Given the description of an element on the screen output the (x, y) to click on. 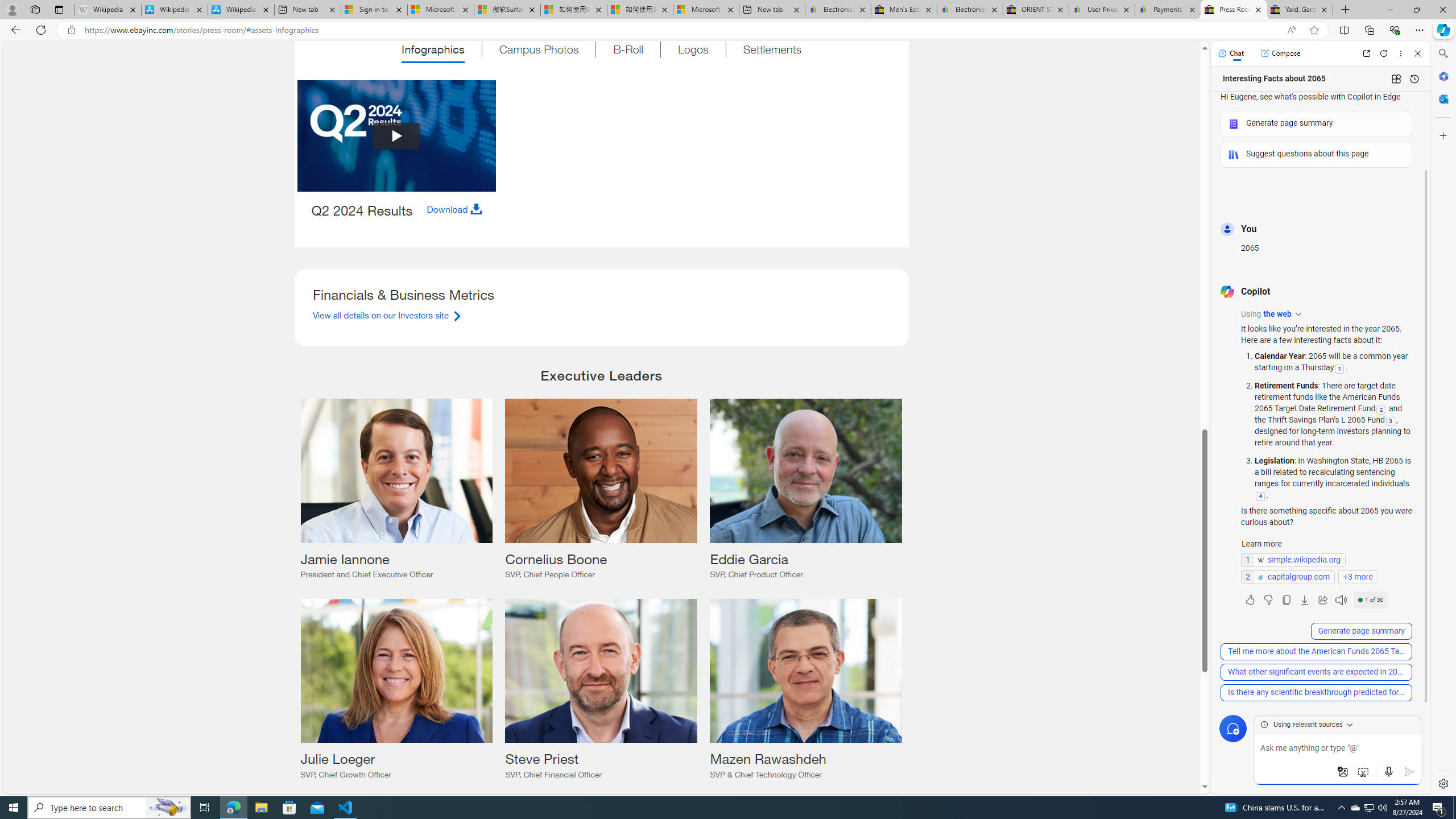
User Privacy Notice | eBay (1102, 9)
Yard, Garden & Outdoor Living (1300, 9)
Payments Terms of Use | eBay.com (1167, 9)
Compose (1280, 52)
